Given the description of an element on the screen output the (x, y) to click on. 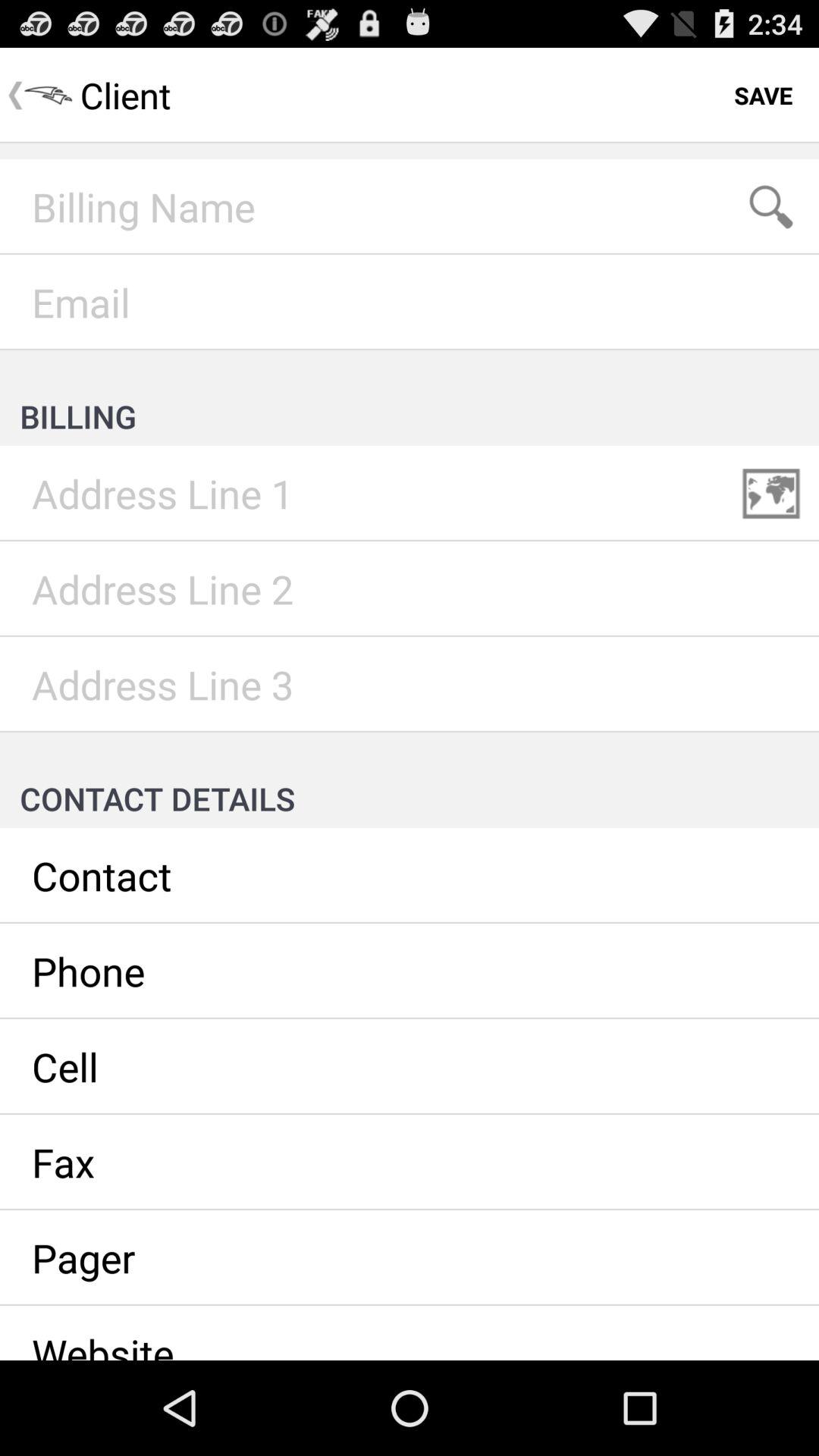
billing name (409, 206)
